Given the description of an element on the screen output the (x, y) to click on. 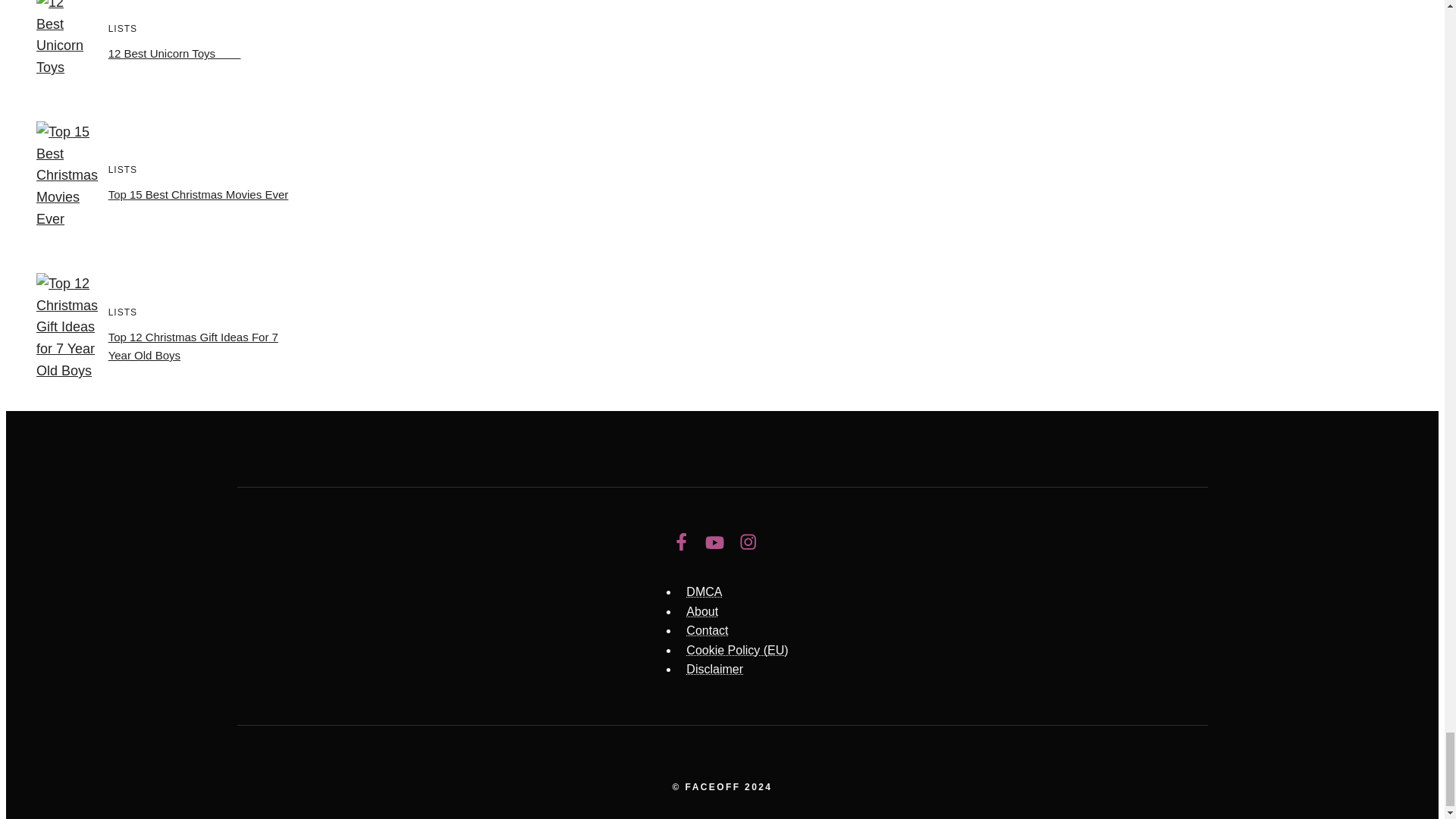
Contact (706, 630)
Disclaimer (714, 668)
12 Best Unicorn Toys         (174, 52)
Top 15 Best Christmas Movies Ever (197, 194)
Top 12 Christmas Gift Ideas For 7 Year Old Boys (192, 345)
About (701, 611)
DMCA (703, 591)
